Given the description of an element on the screen output the (x, y) to click on. 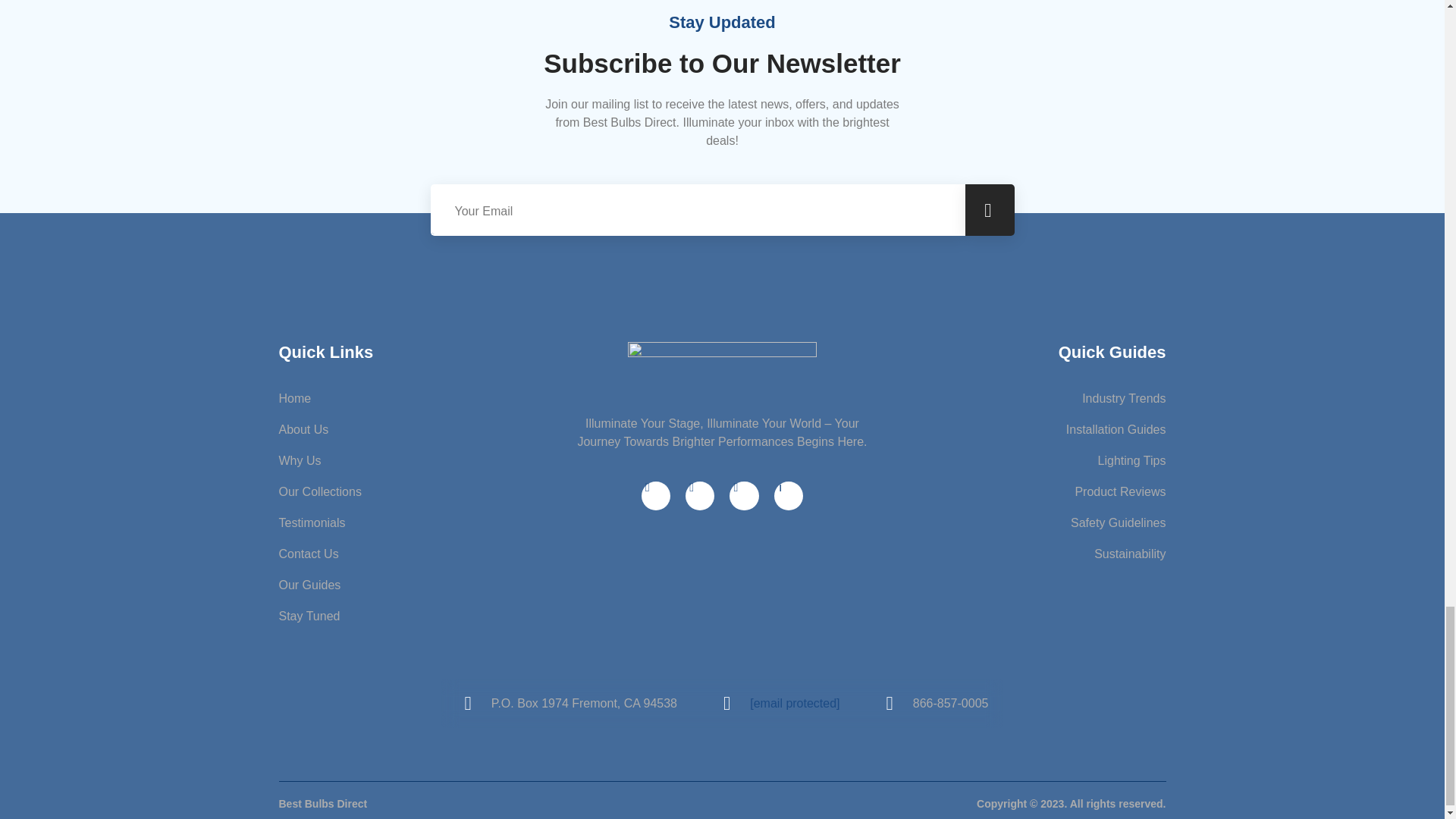
Our Collections (427, 492)
Contact Us (427, 554)
Testimonials (427, 523)
Home (427, 398)
Our Guides (427, 585)
Why Us (427, 461)
About Us (427, 429)
